Given the description of an element on the screen output the (x, y) to click on. 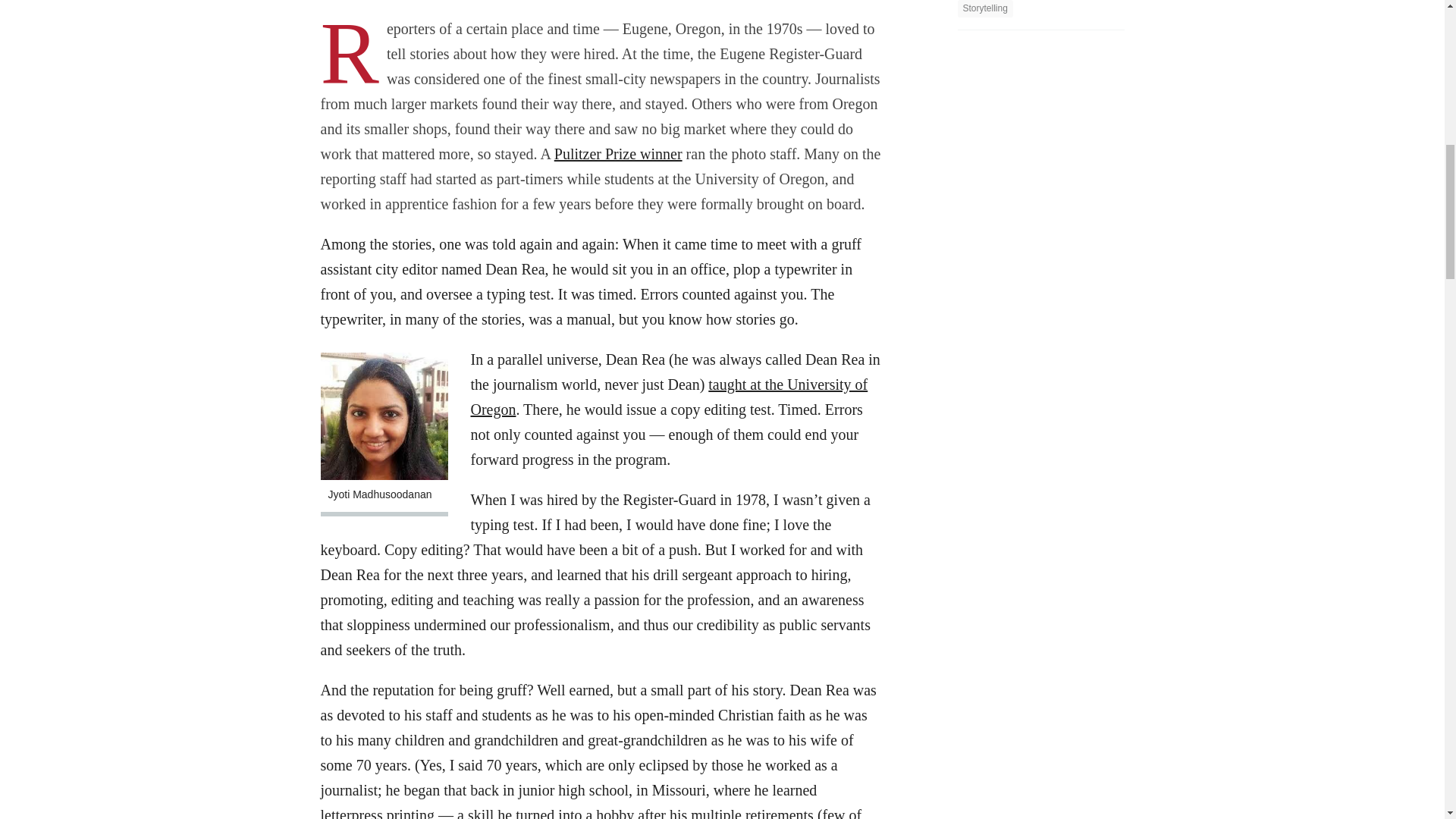
Pulitzer Prize winner (618, 153)
Storytelling (983, 8)
